Given the description of an element on the screen output the (x, y) to click on. 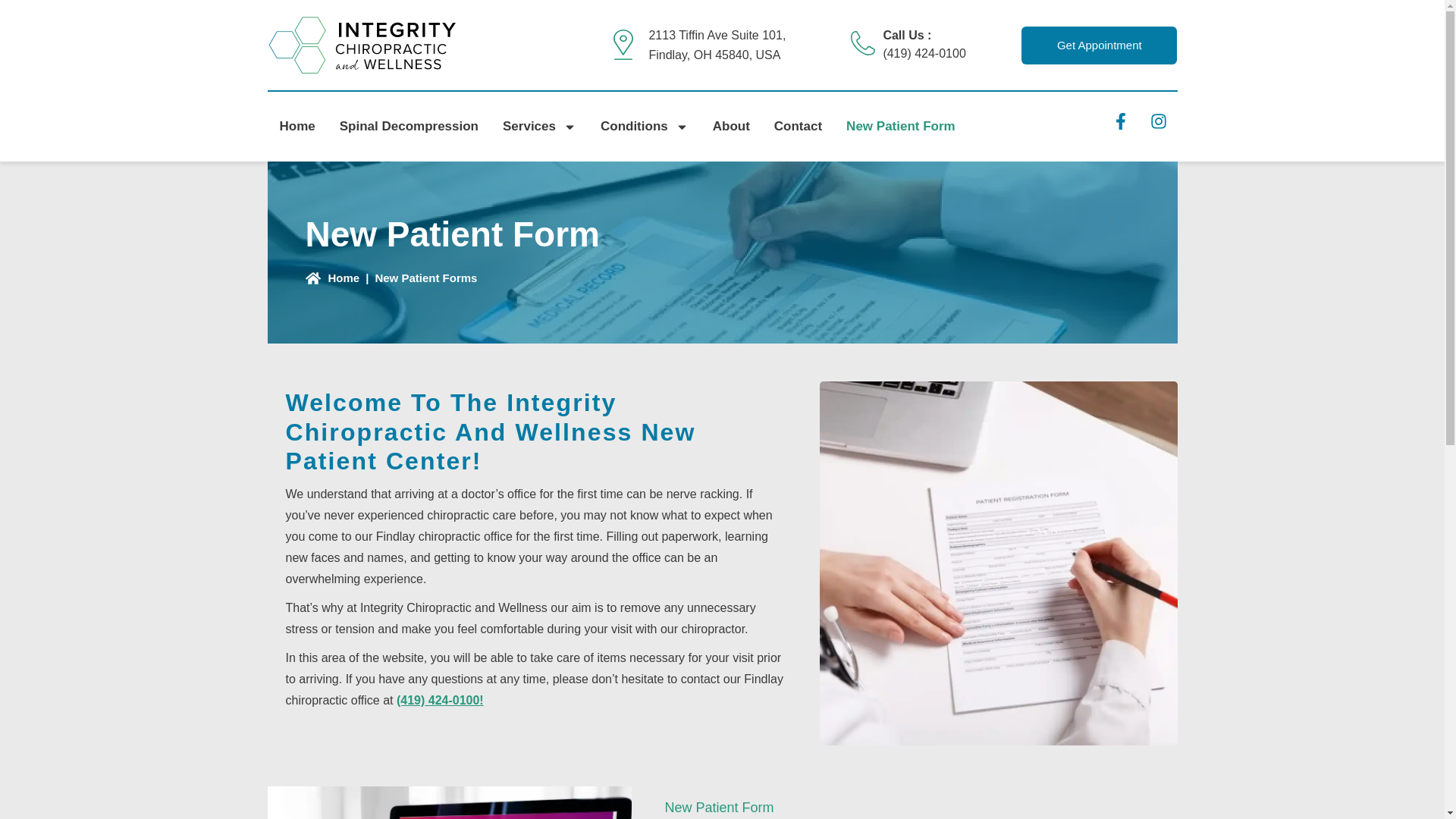
Conditions (644, 126)
Call Us : (906, 34)
Home (296, 126)
Integrity-Logo-no-tag-Black-e1701838834558-1-1 (361, 45)
Contact (797, 126)
About (730, 126)
Spinal Decompression (408, 126)
Services (539, 126)
New Patient Form (901, 126)
Get Appointment (1099, 44)
